Given the description of an element on the screen output the (x, y) to click on. 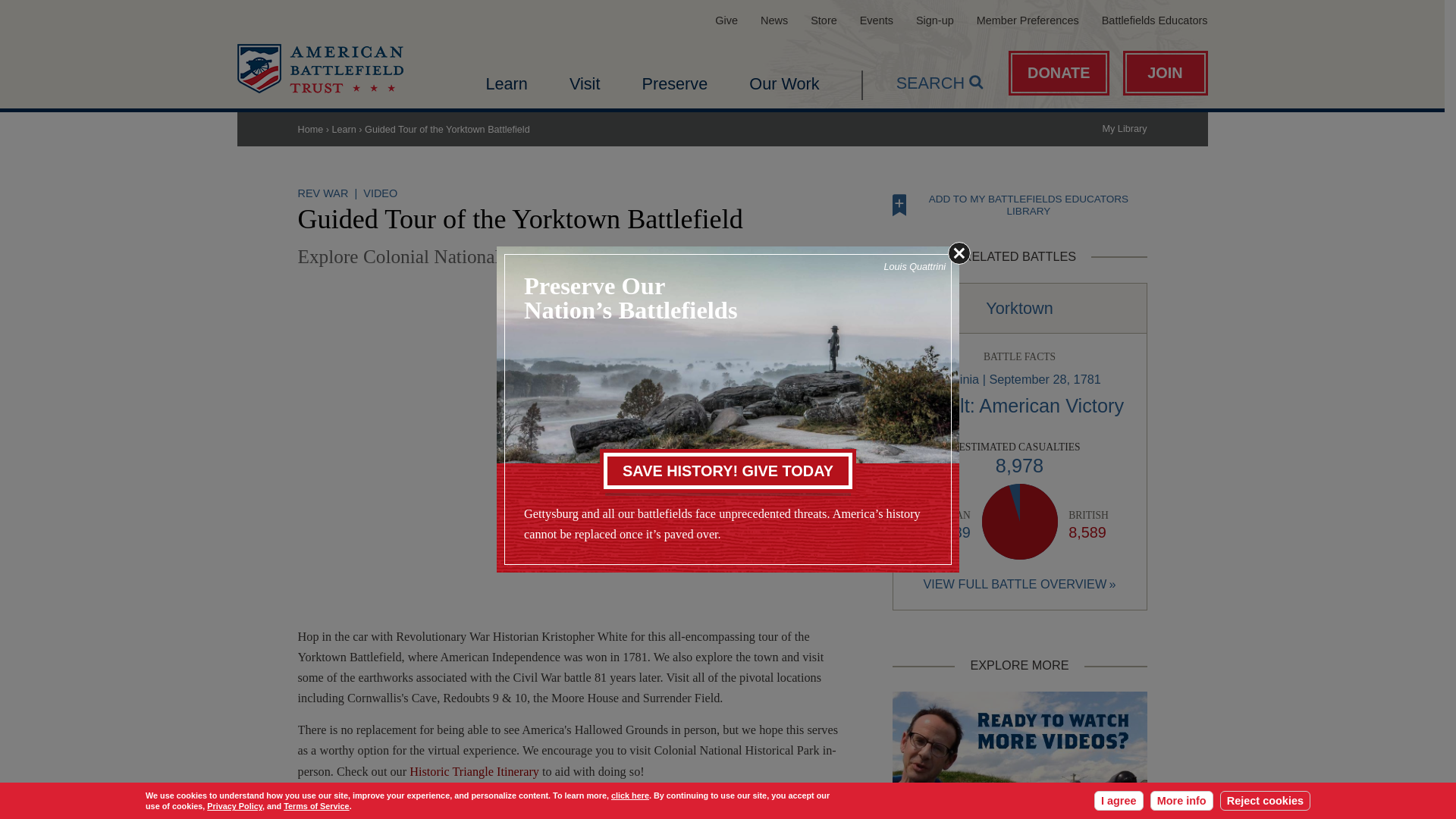
Battlefields Educators (1155, 20)
Privacy Policy (234, 805)
Terms of Service (316, 805)
Home (319, 68)
Member Preferences (1027, 20)
More info (1181, 800)
Store (823, 20)
News (773, 20)
Give (726, 20)
Reject cookies (1265, 800)
I agree (1118, 800)
click here (630, 795)
Learn (505, 83)
Events (876, 20)
